Given the description of an element on the screen output the (x, y) to click on. 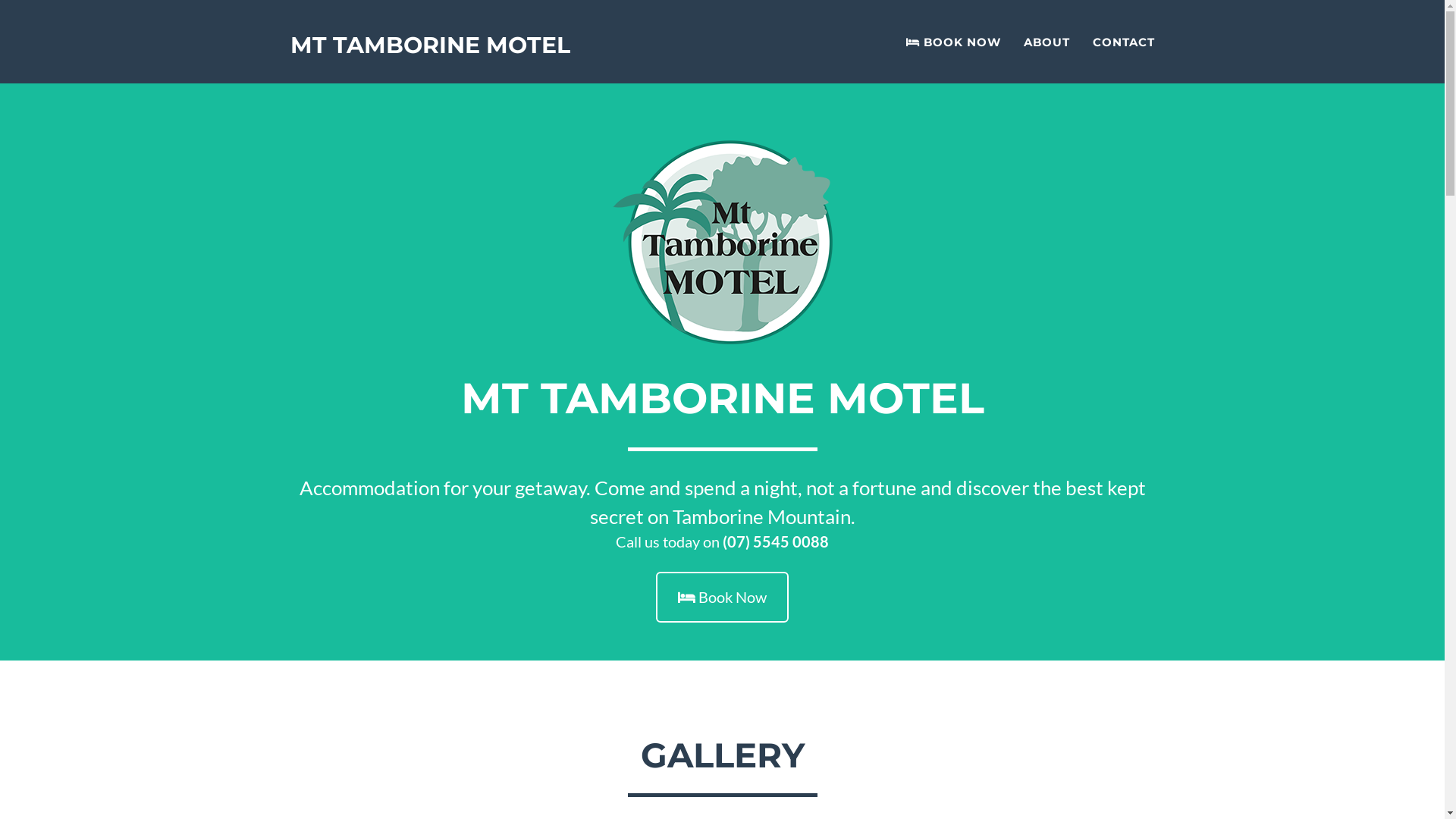
Book Now Element type: text (721, 596)
ABOUT Element type: text (1045, 41)
BOOK NOW Element type: text (953, 41)
MT TAMBORINE MOTEL Element type: text (430, 41)
CONTACT Element type: text (1123, 41)
